Given the description of an element on the screen output the (x, y) to click on. 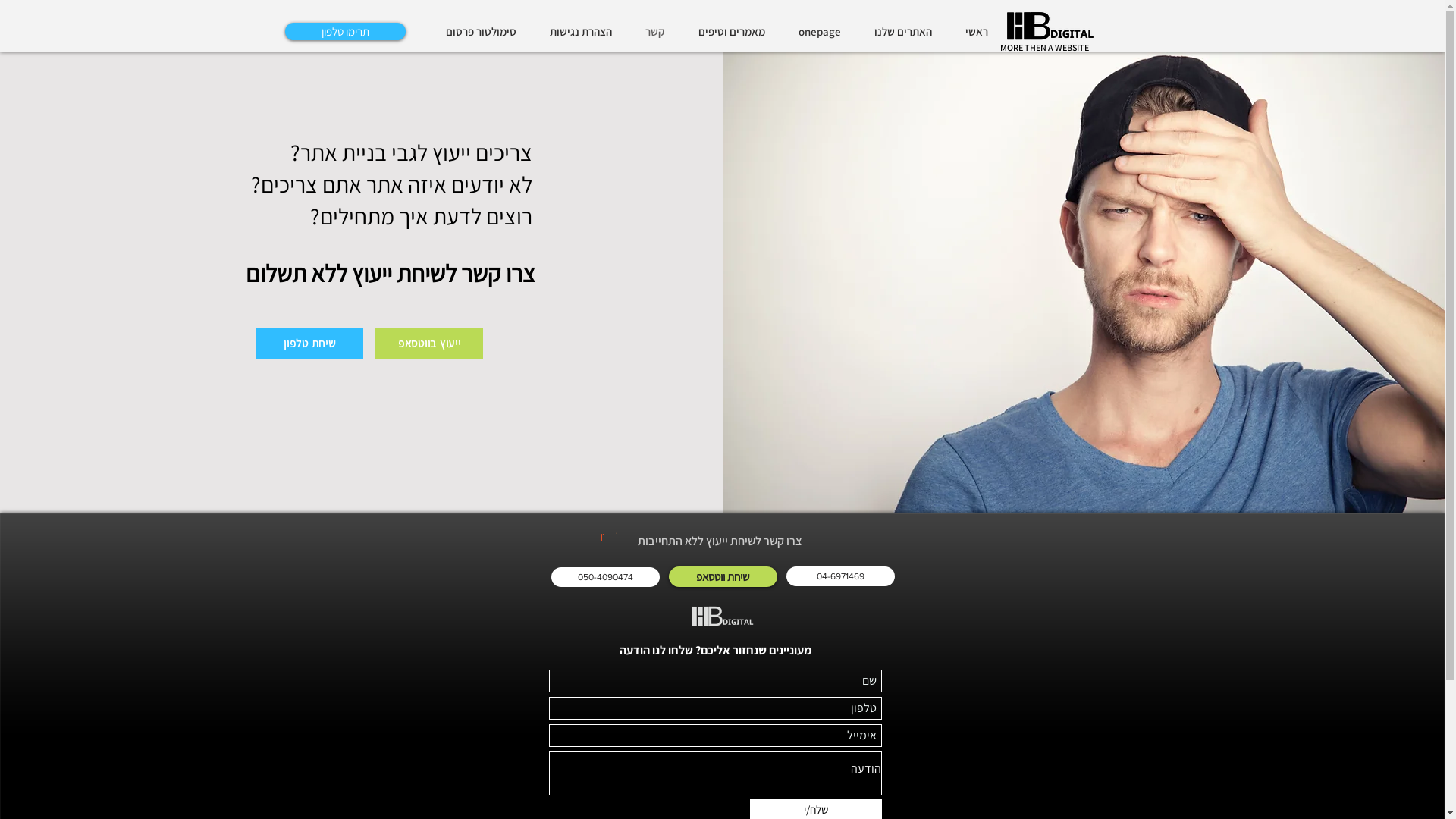
onepage Element type: text (814, 31)
050-4090474 Element type: text (604, 576)
04-6971469 Element type: text (839, 576)
